Given the description of an element on the screen output the (x, y) to click on. 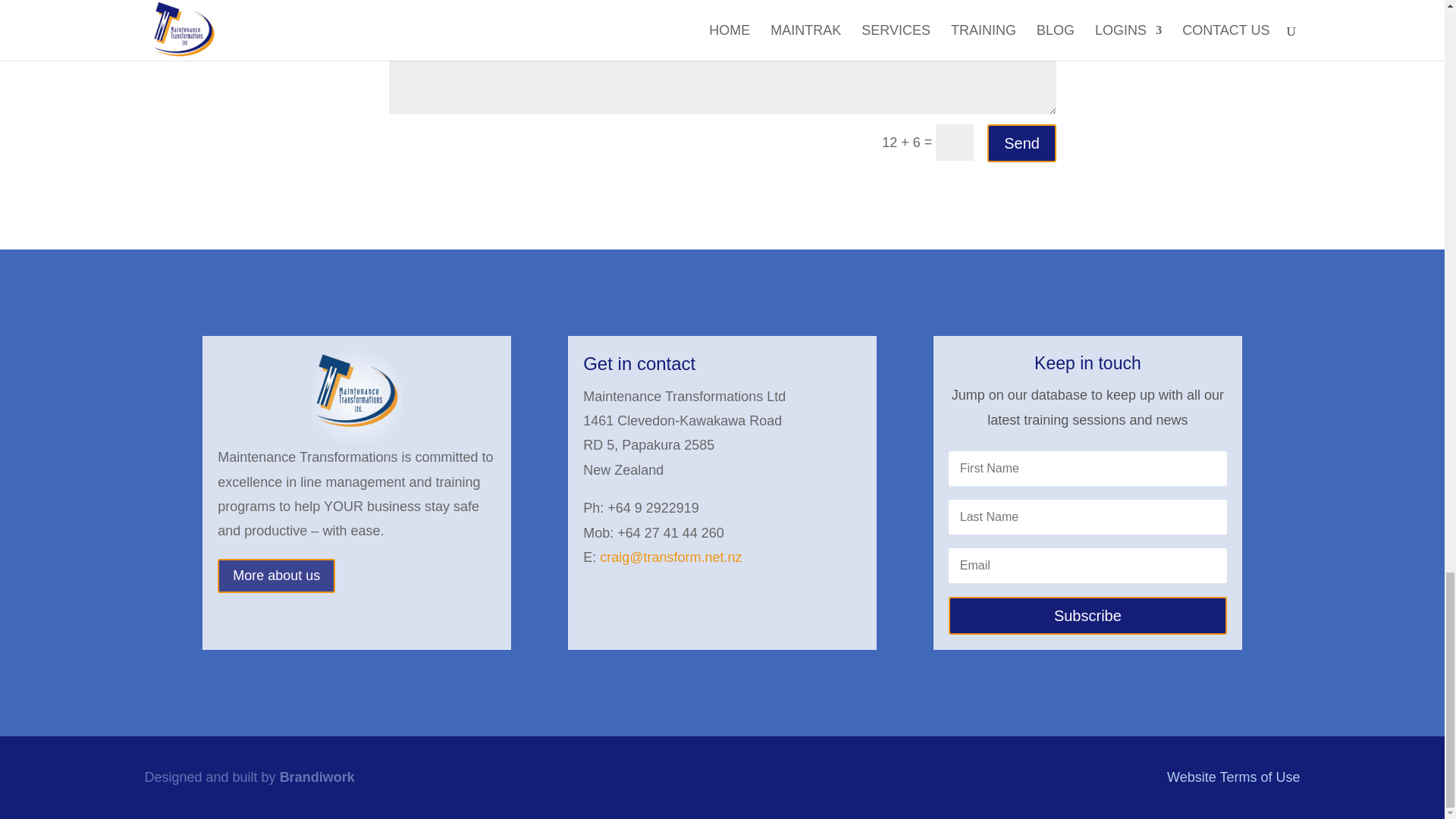
Subscribe (1088, 615)
Brandiwork (317, 776)
MTL logo colour PNG (357, 390)
More about us (275, 575)
Send (1022, 143)
